Given the description of an element on the screen output the (x, y) to click on. 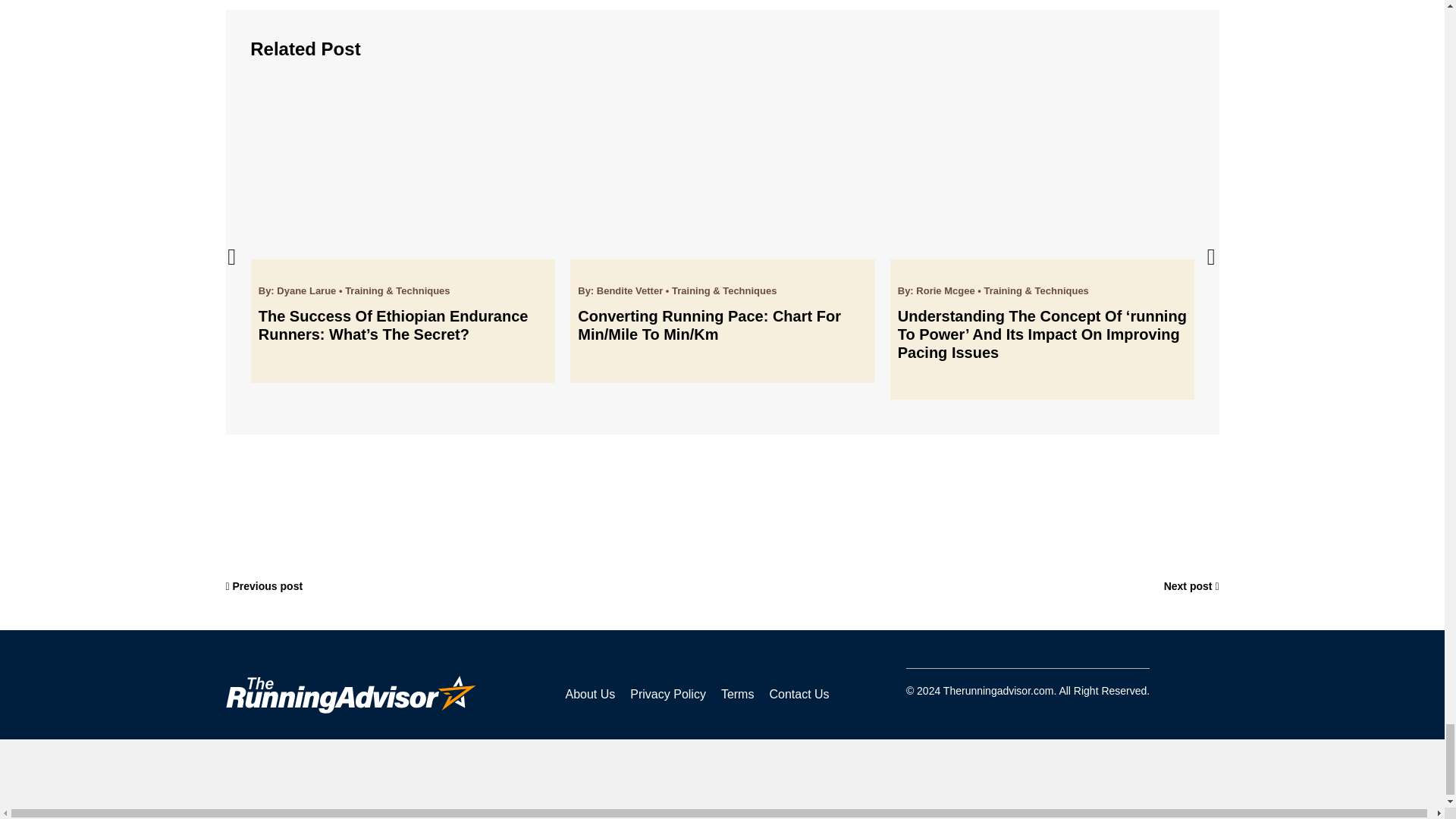
Therunningadvisor (350, 694)
